Given the description of an element on the screen output the (x, y) to click on. 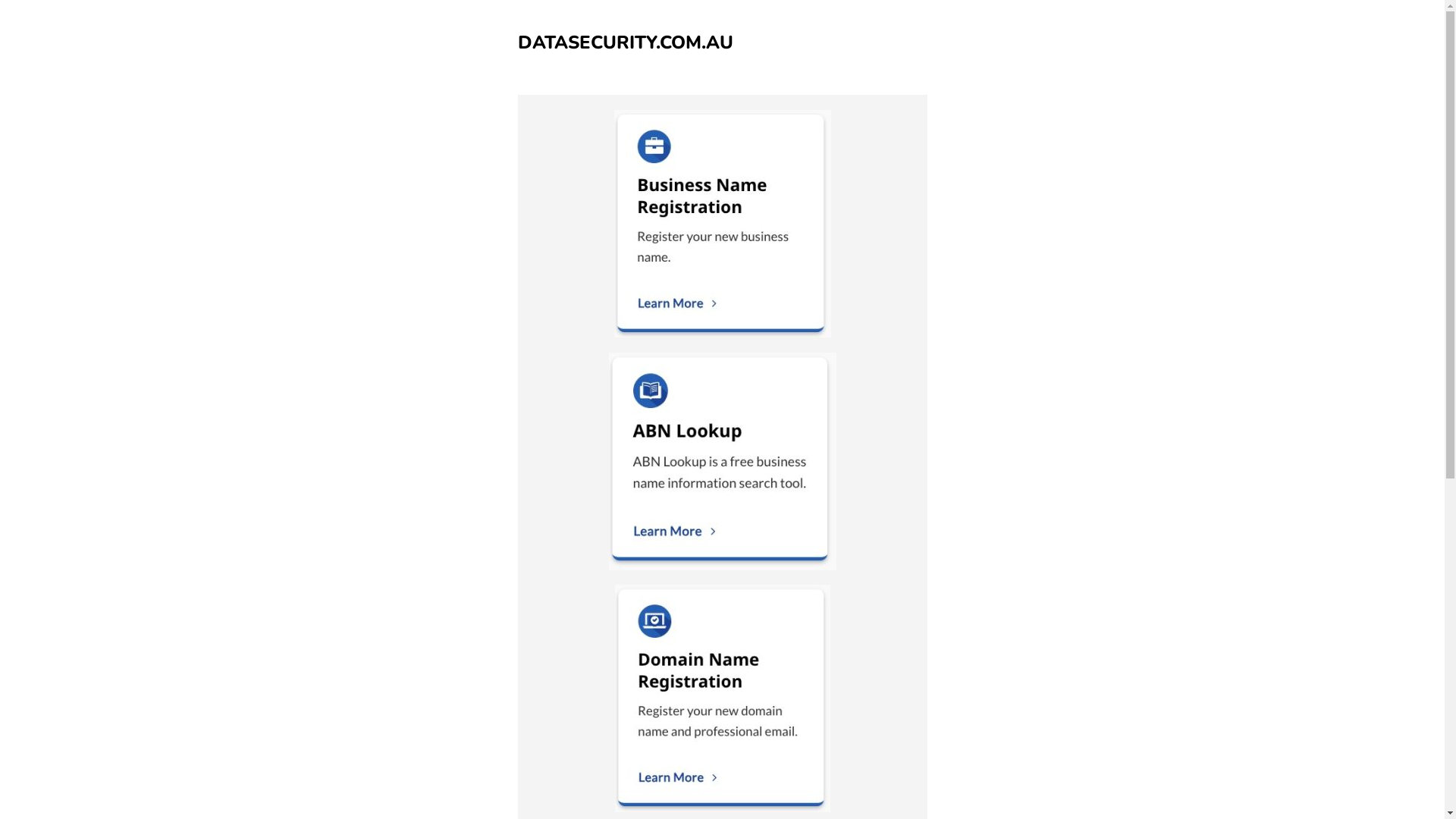
DATASECURITY.COM.AU Element type: text (624, 42)
